Given the description of an element on the screen output the (x, y) to click on. 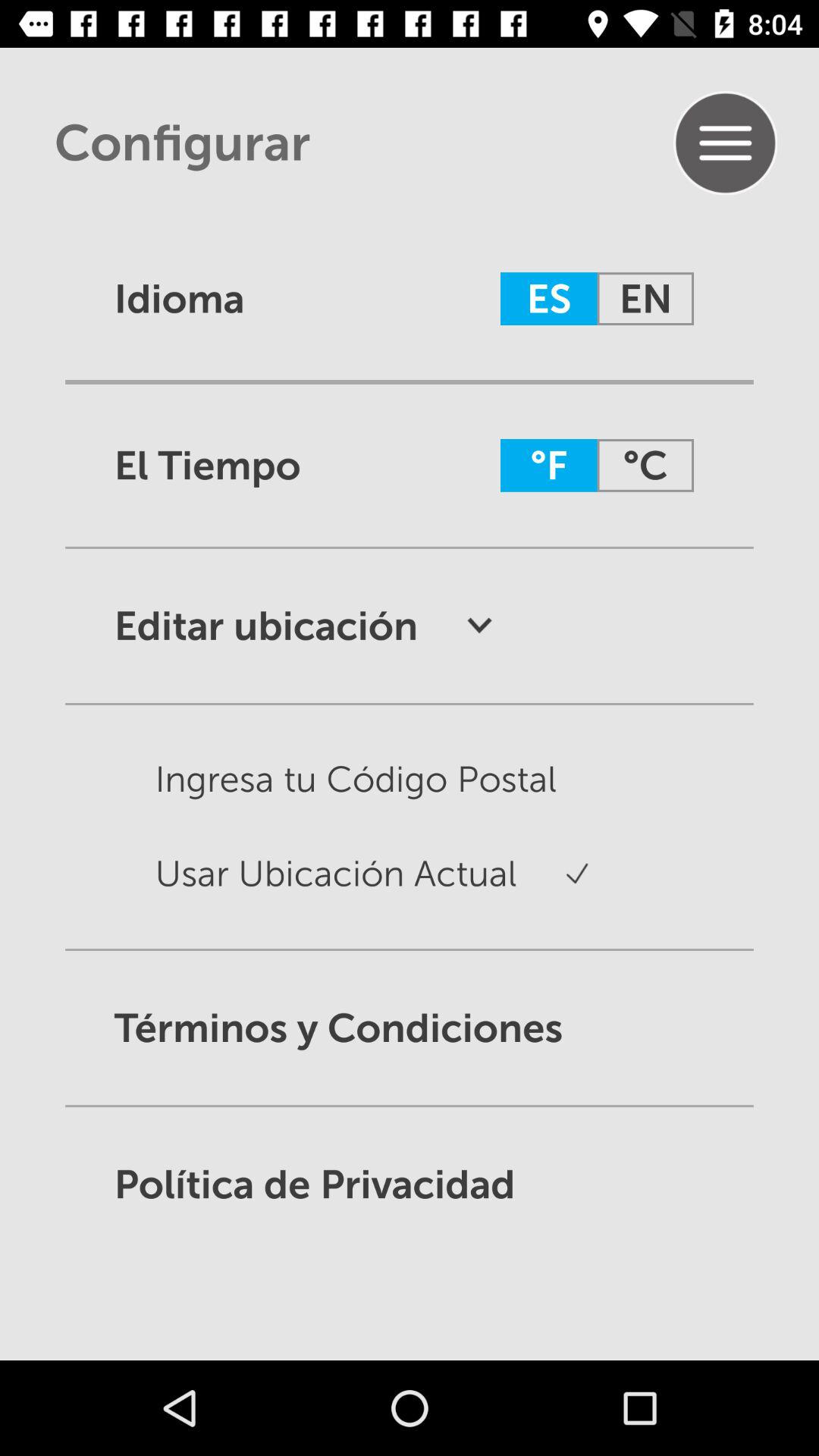
select the option which is beside el tiempo (596, 465)
click on politica de privacidad (409, 1184)
select drop down symbol after editar ubicacion (455, 625)
click on the tick symbol beside usar abicacion actual (552, 888)
select the second option in editar ubicacion category (290, 888)
click on es en (596, 298)
